Given the description of an element on the screen output the (x, y) to click on. 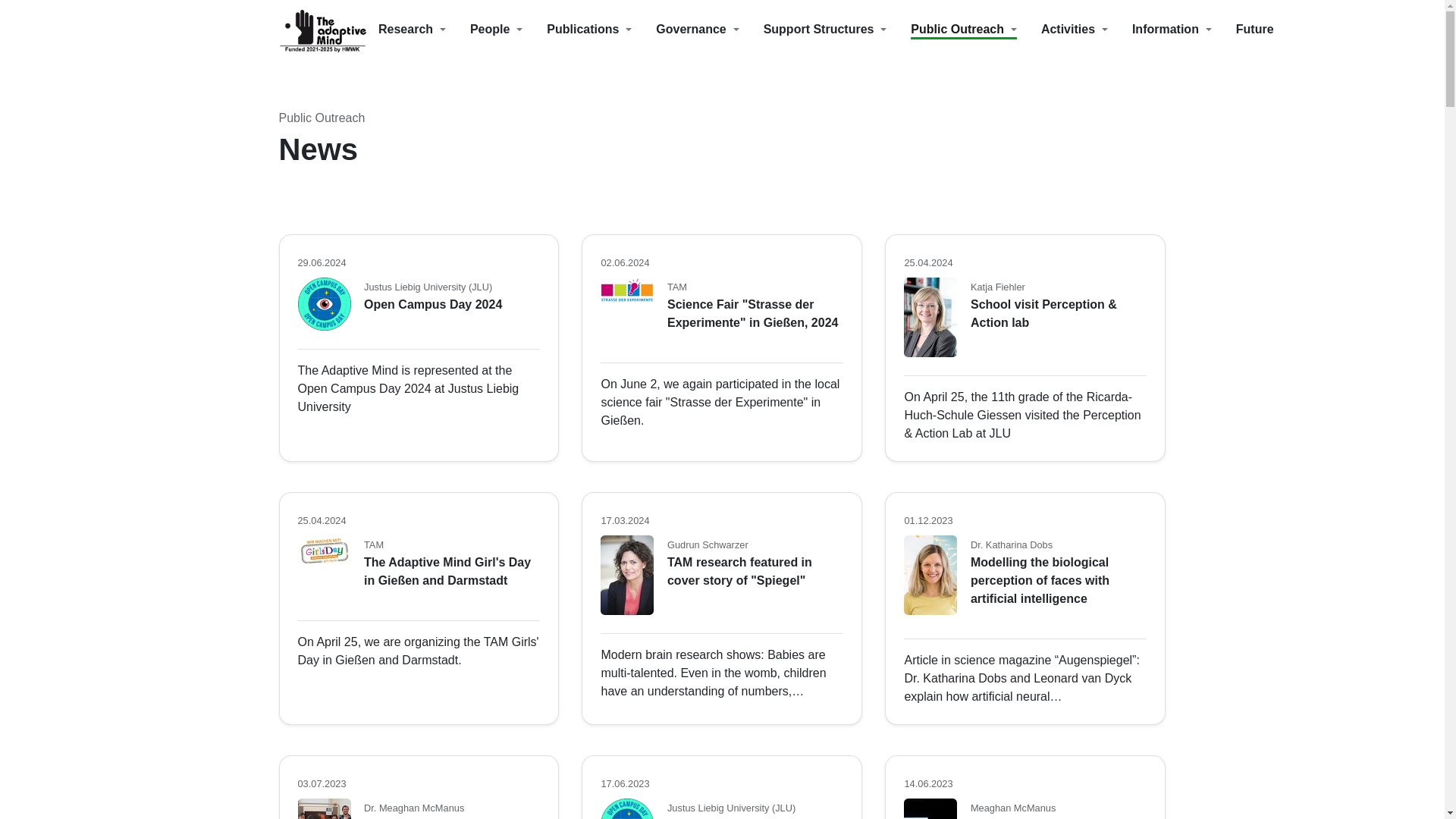
People (508, 28)
Research (424, 28)
Publications (601, 28)
Future (1255, 28)
Public Outreach (976, 28)
Activities (1086, 28)
Support Structures (836, 28)
Information (1184, 28)
Governance (709, 28)
